Given the description of an element on the screen output the (x, y) to click on. 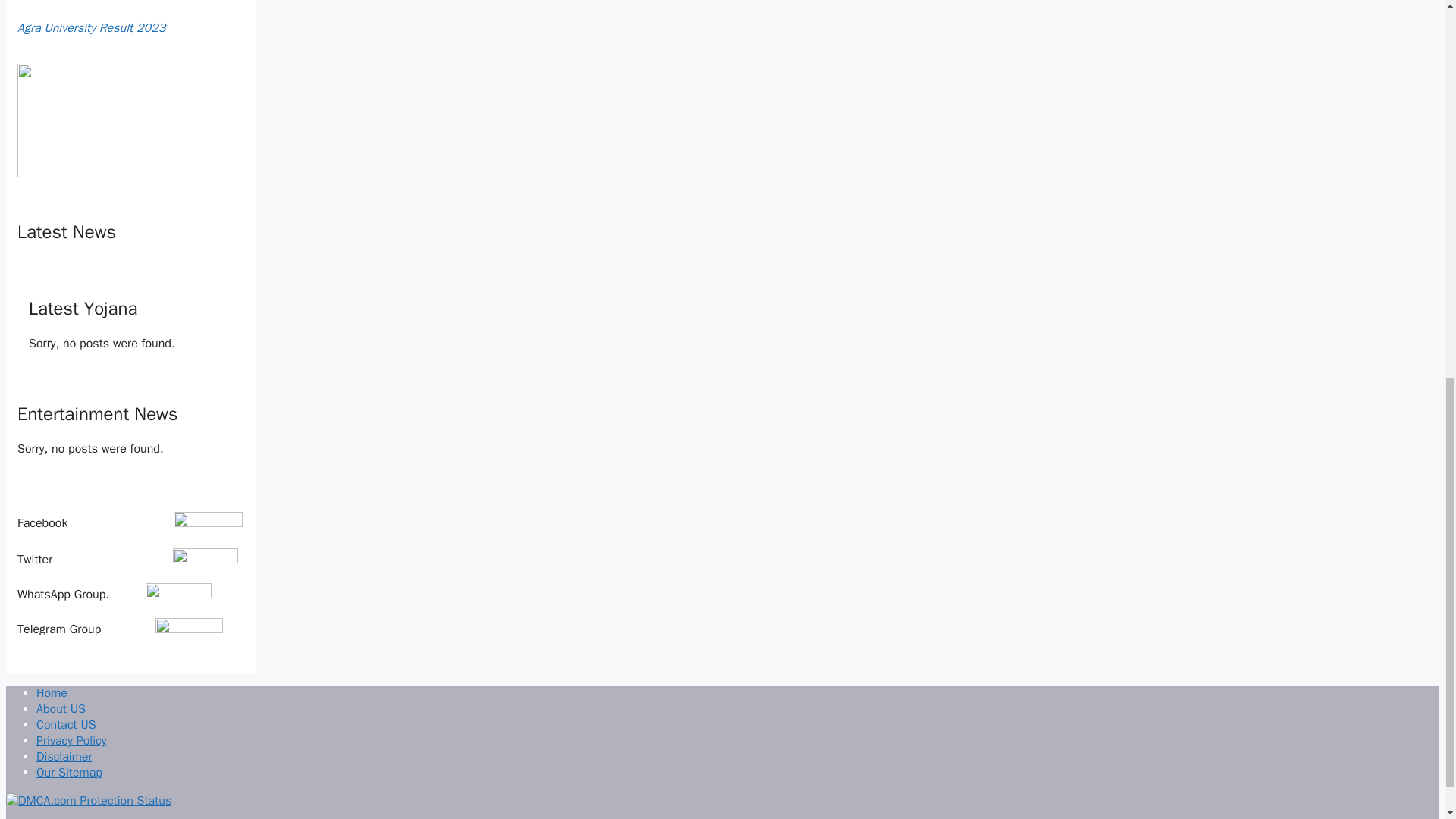
Privacy Policy (71, 740)
Contact US (66, 724)
DMCA.com Protection Status (88, 800)
About US (60, 708)
Disclaimer (63, 756)
Our Sitemap (68, 772)
Agra University Result 2023 (91, 28)
Home (51, 693)
